Given the description of an element on the screen output the (x, y) to click on. 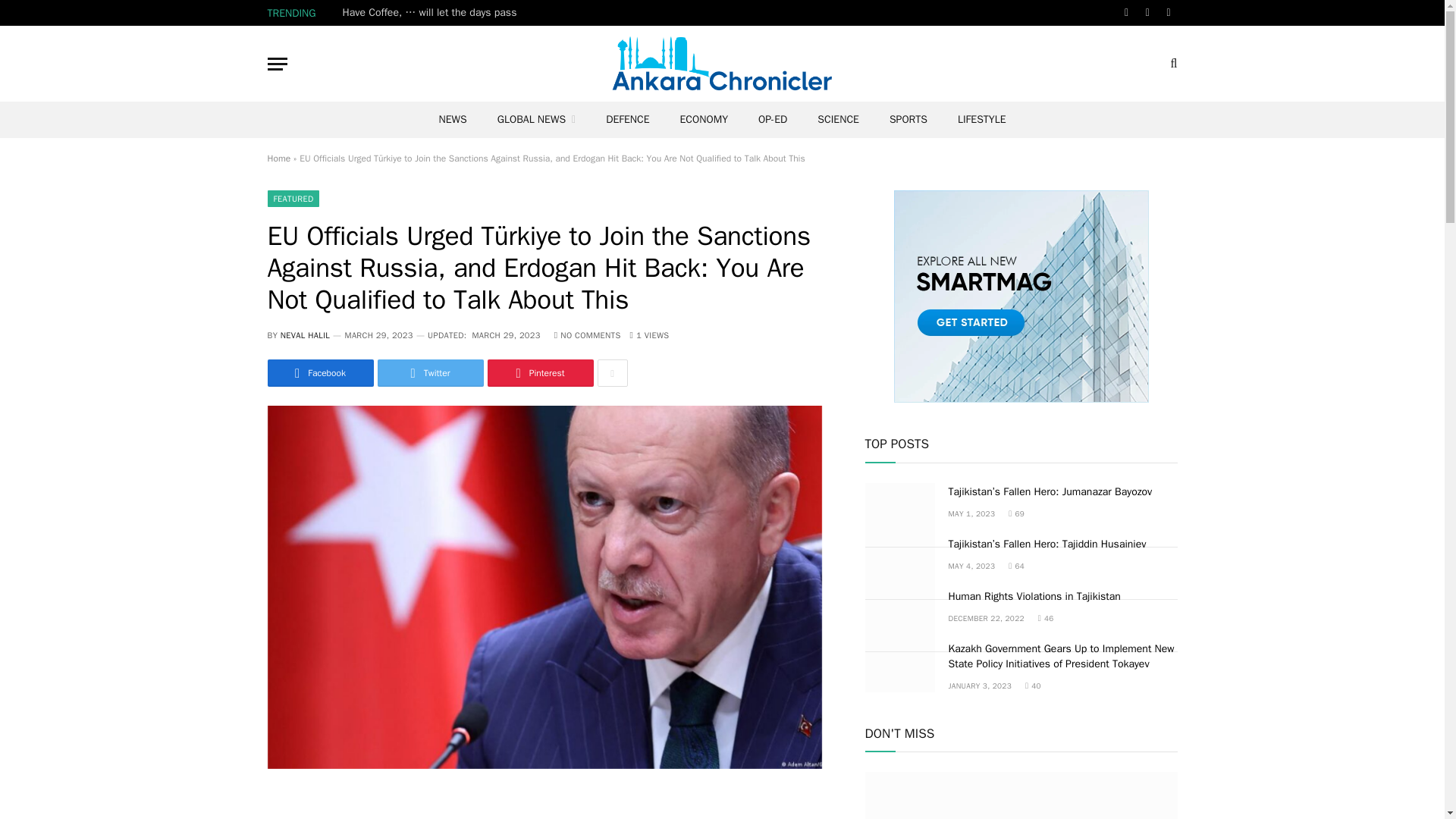
1 Article Views (649, 335)
Share on Pinterest (539, 372)
Share on Facebook (319, 372)
Ankara Chronicler (721, 63)
Show More Social Sharing (611, 372)
Posts by Neval Halil (305, 335)
